Given the description of an element on the screen output the (x, y) to click on. 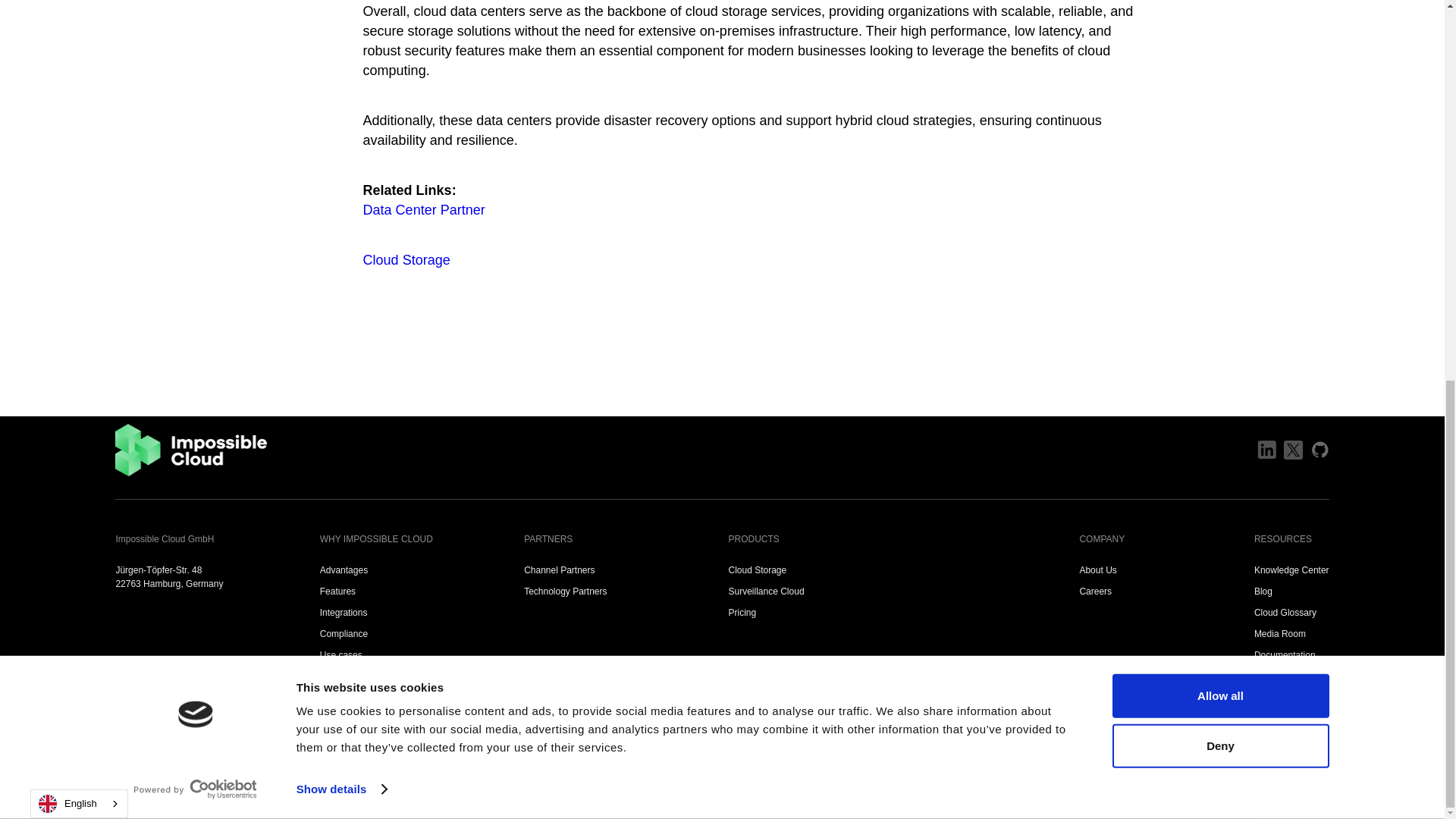
Show details (341, 81)
